Given the description of an element on the screen output the (x, y) to click on. 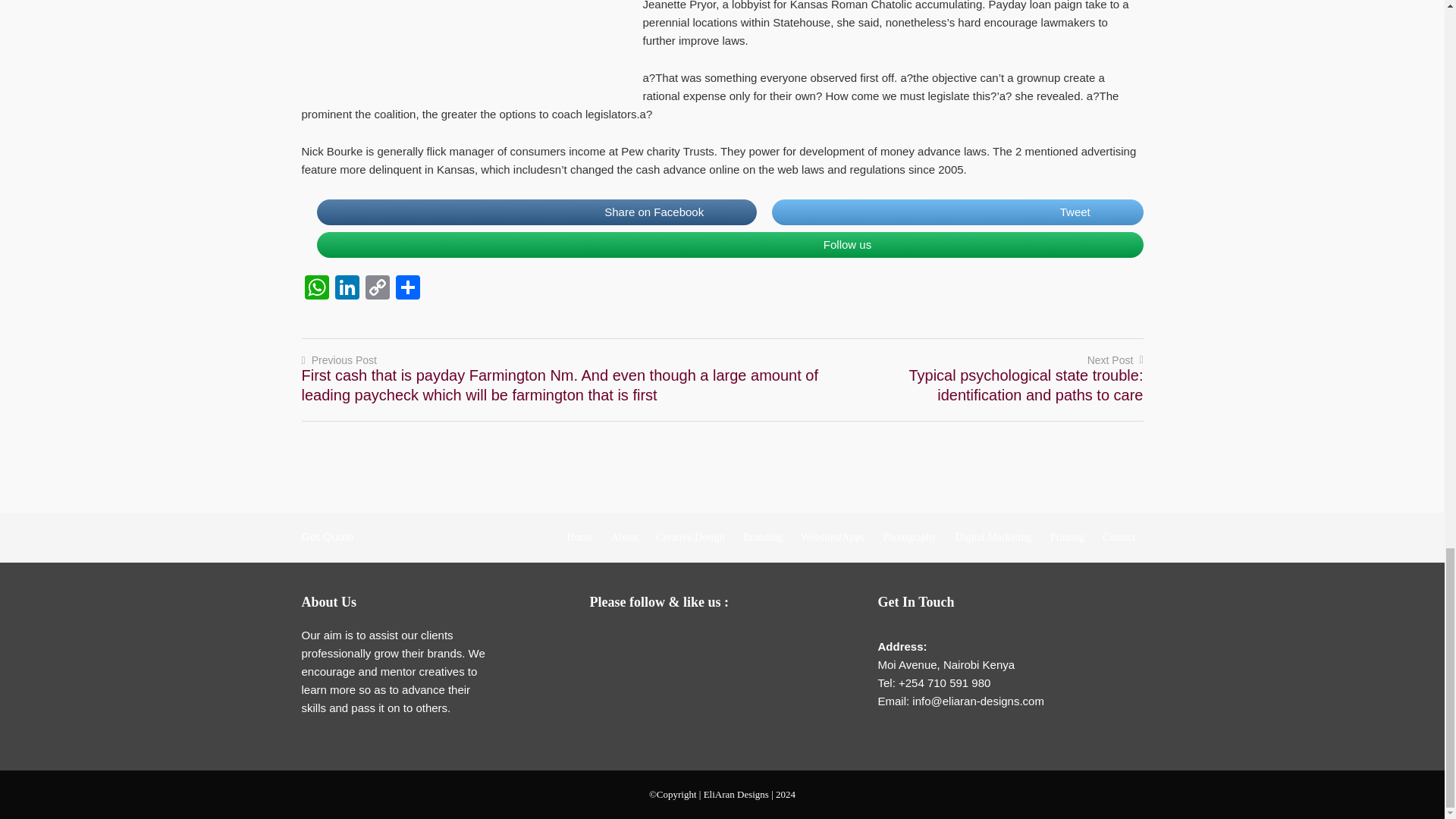
Follow by Email (606, 640)
Facebook (637, 640)
LinkedIn (346, 289)
Twitter (667, 640)
LinkedIn (698, 640)
Instagram (728, 640)
Copy Link (377, 289)
WhatsApp (316, 289)
